Given the description of an element on the screen output the (x, y) to click on. 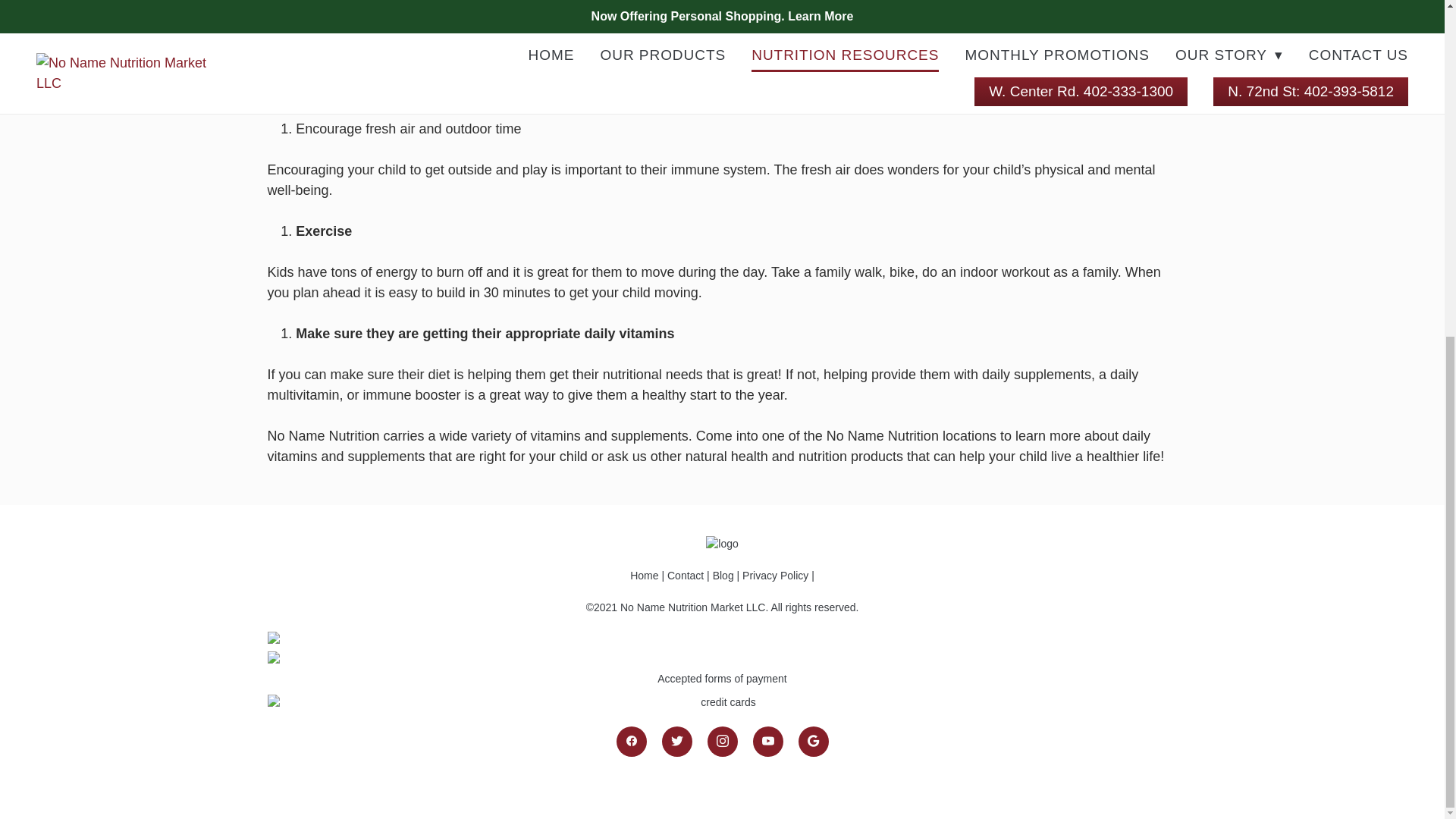
Home (645, 575)
Privacy Policy (775, 575)
Contact (684, 575)
Blog (723, 575)
